Given the description of an element on the screen output the (x, y) to click on. 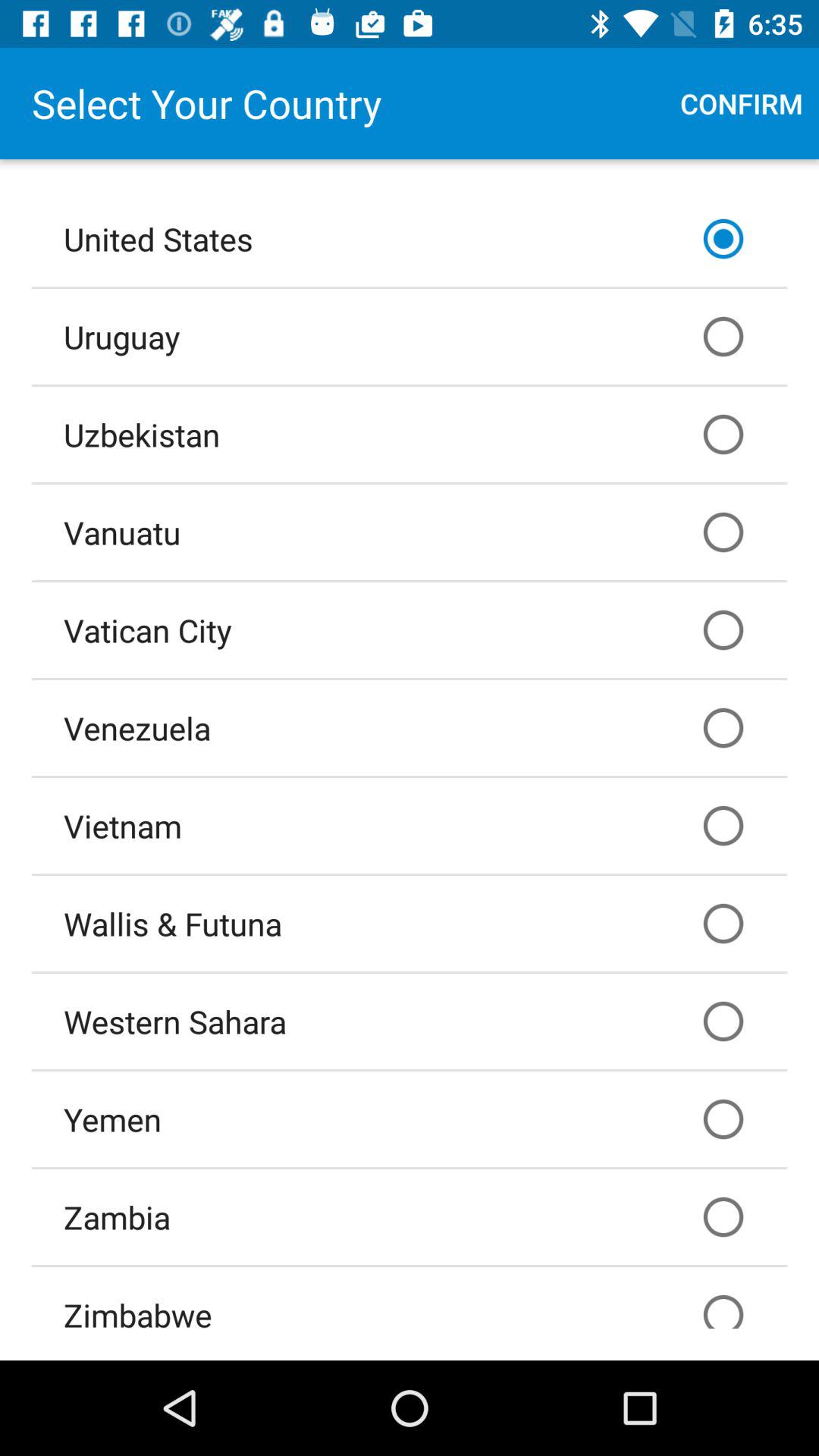
flip until the venezuela (409, 727)
